Given the description of an element on the screen output the (x, y) to click on. 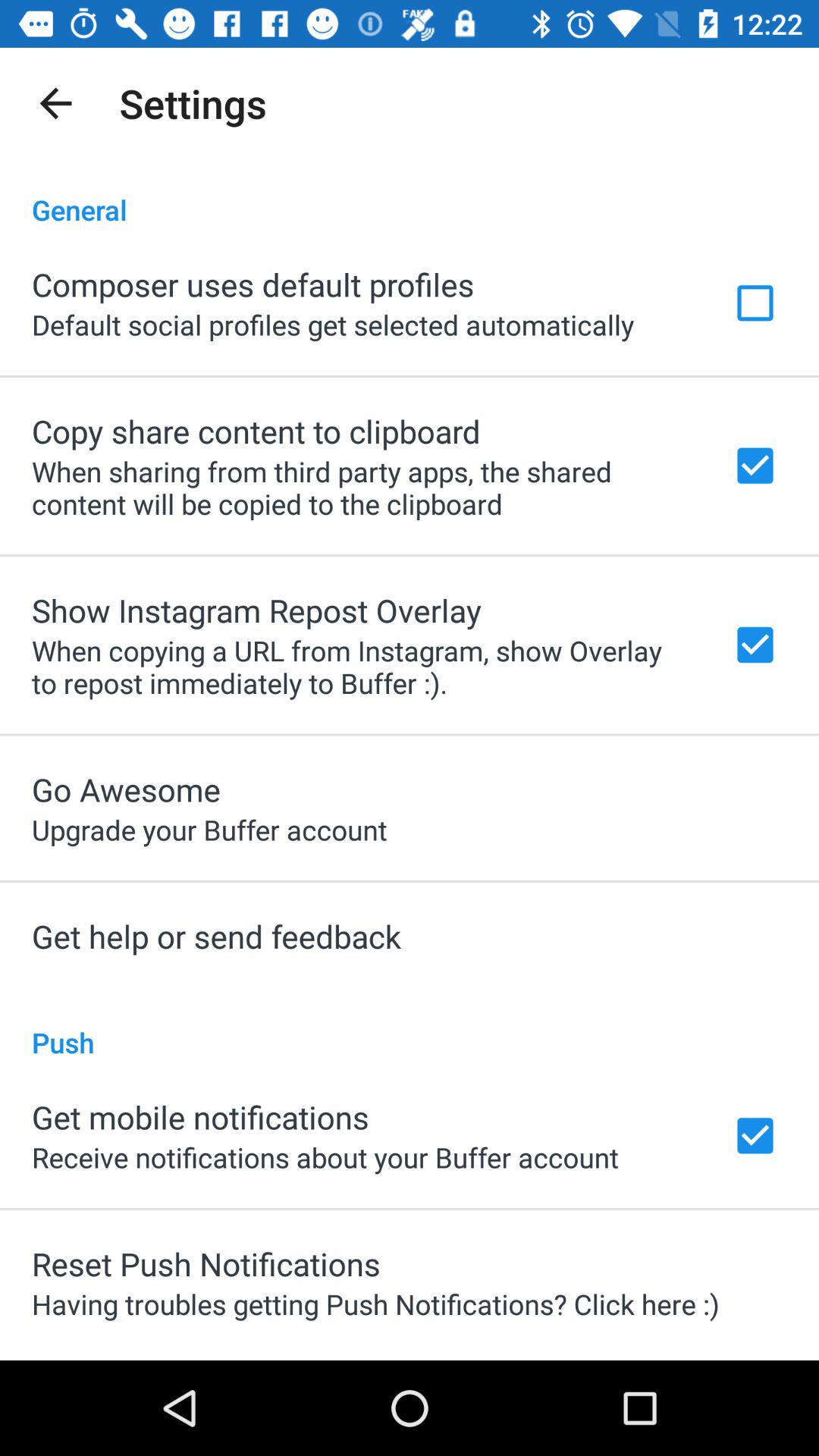
tap icon above the upgrade your buffer item (125, 789)
